Given the description of an element on the screen output the (x, y) to click on. 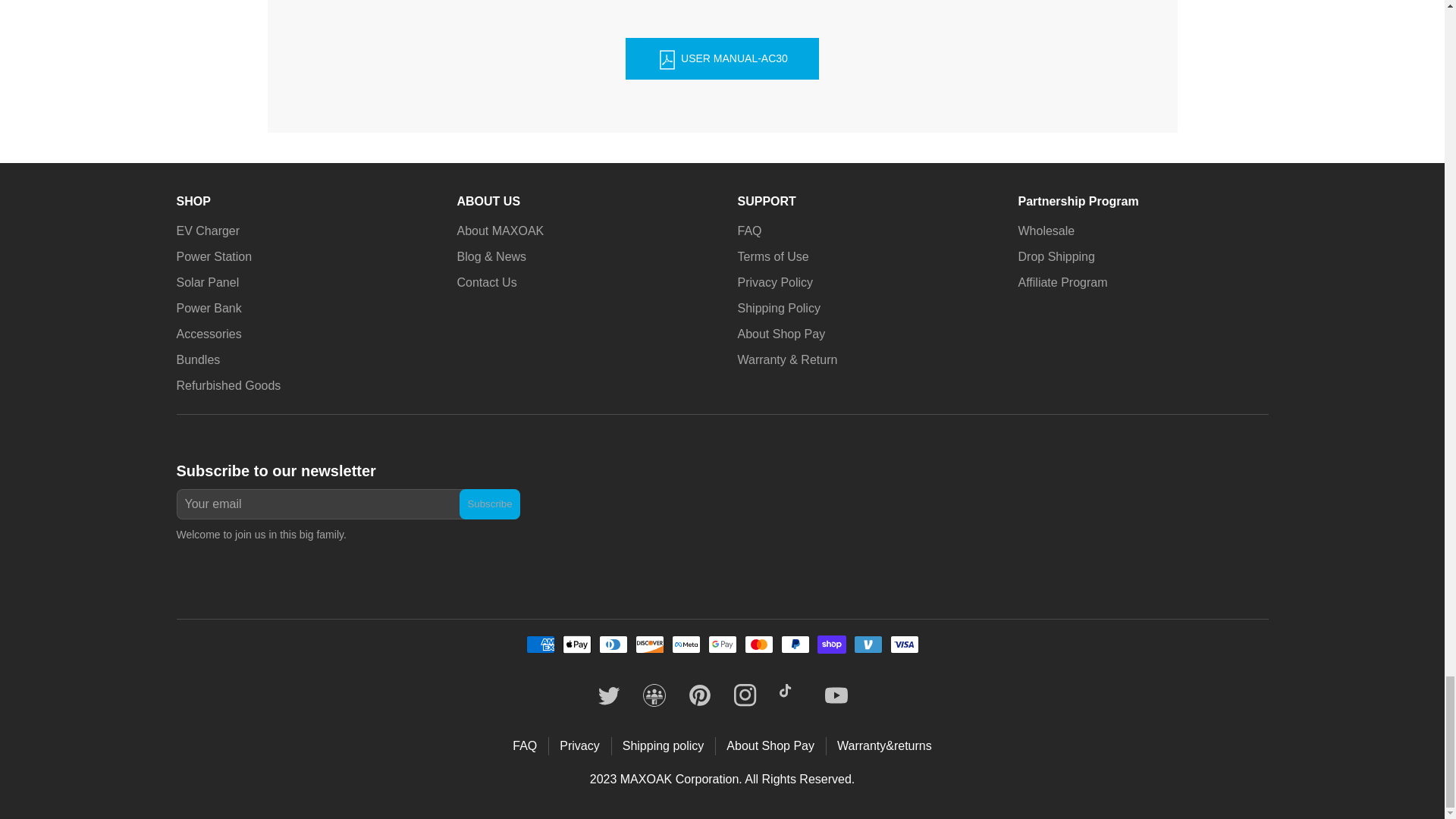
Discover (648, 644)
Apple Pay (576, 644)
Meta Pay (685, 644)
American Express (539, 644)
Diners Club (612, 644)
